Given the description of an element on the screen output the (x, y) to click on. 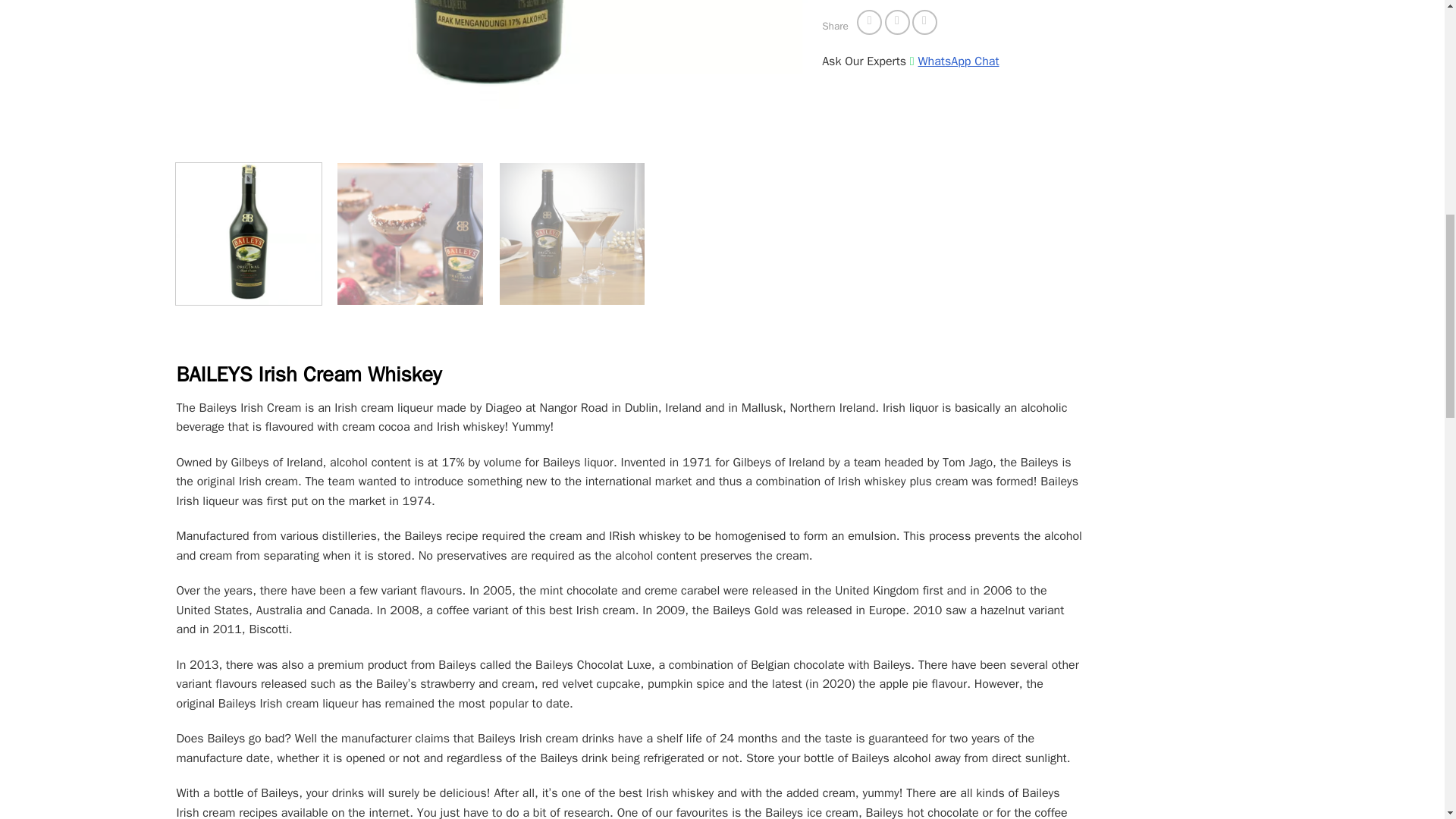
Share on Facebook (869, 22)
Email to a Friend (924, 22)
Share on Twitter (897, 22)
